Given the description of an element on the screen output the (x, y) to click on. 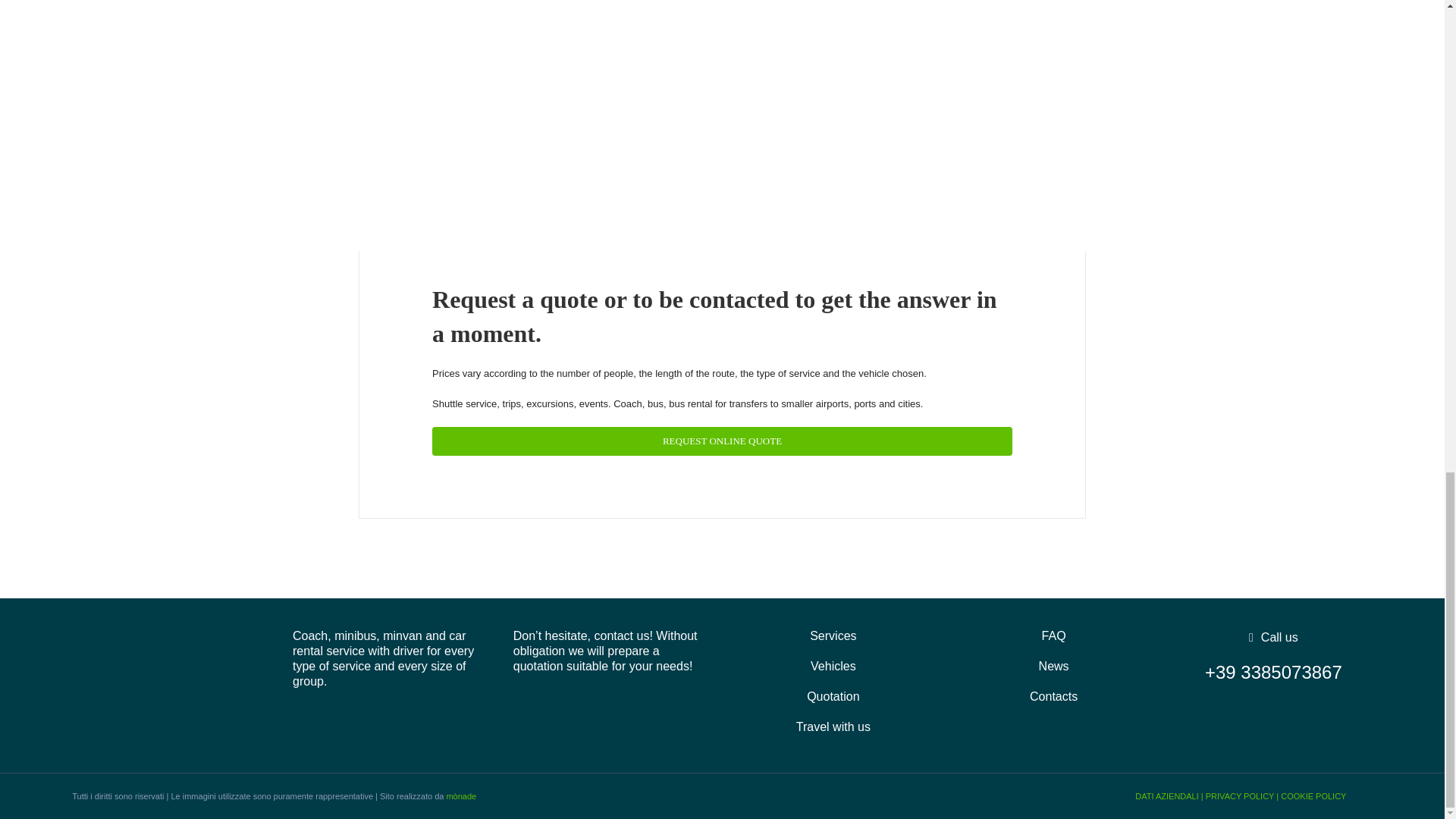
Cookie Policy (1313, 795)
REQUEST ONLINE QUOTE (721, 440)
News (1053, 666)
FAQ (1053, 635)
Vehicles (833, 666)
Services (833, 635)
DATI AZIENDALI (1166, 795)
Travel-Service-1UBL6nPltkWgzcP (638, 99)
Quotation (833, 696)
Contacts (1053, 696)
